Given the description of an element on the screen output the (x, y) to click on. 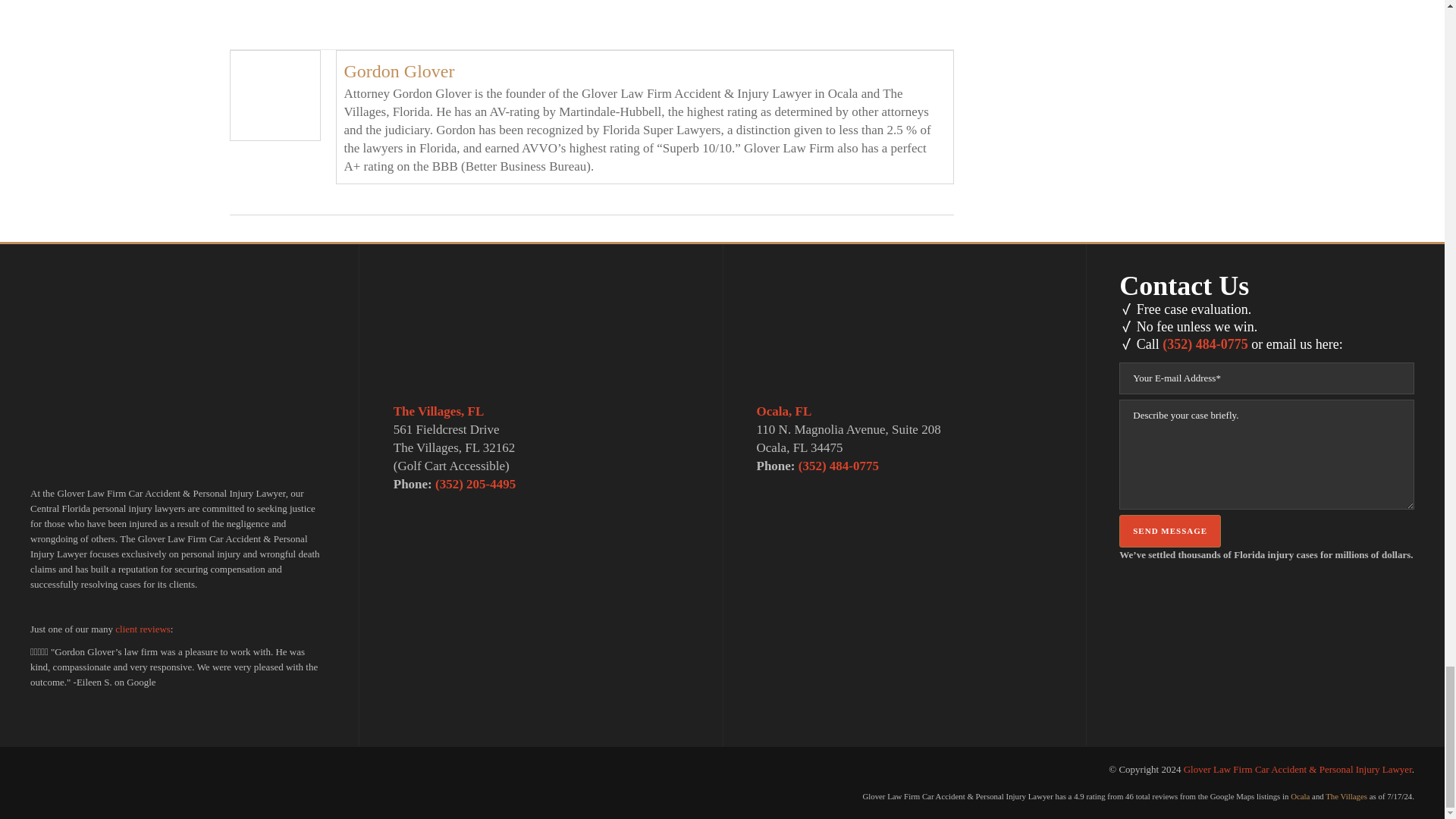
Send Message (1170, 531)
